Given the description of an element on the screen output the (x, y) to click on. 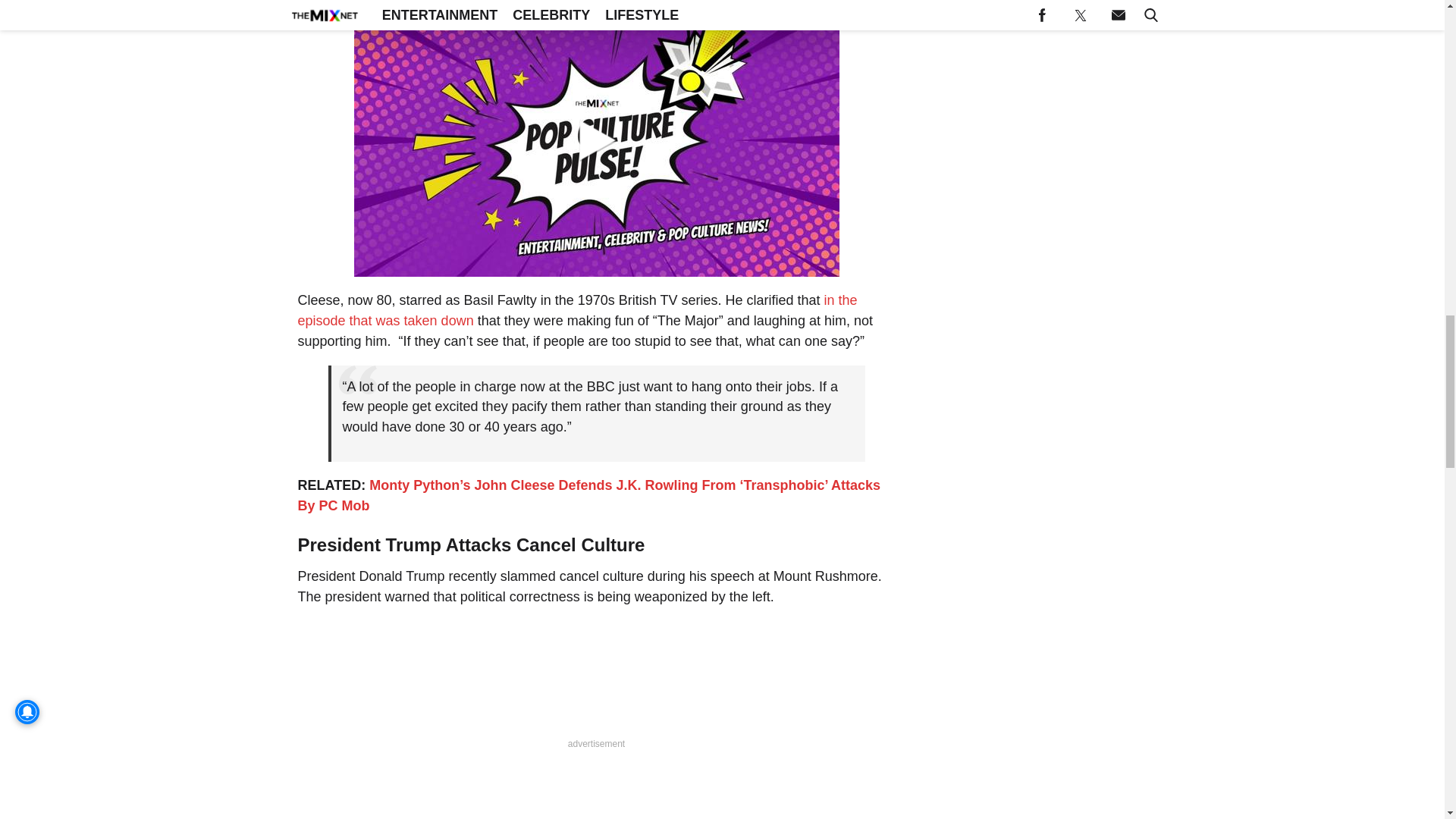
in the episode that was taken down (577, 310)
Play Video (595, 140)
Play Video (596, 140)
